Given the description of an element on the screen output the (x, y) to click on. 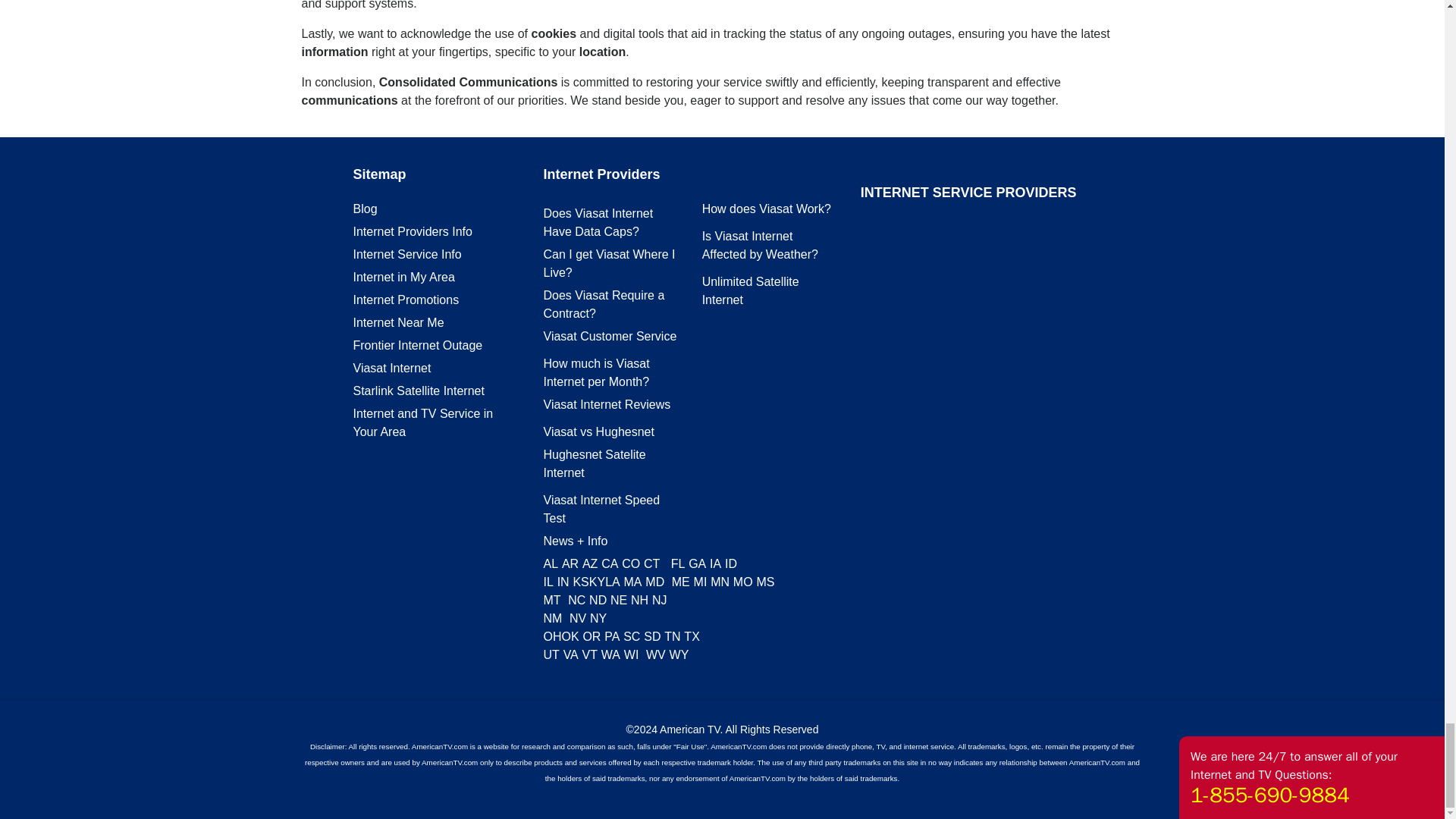
Connecticut (651, 563)
Michigan (700, 581)
Alabama (550, 563)
Idaho (730, 563)
Internet Promotions (406, 299)
California (609, 563)
Hughesnet Satelite Internet (594, 463)
Viasat vs Hughesnet (598, 431)
Unlimited Satellite Internet (750, 290)
Louisiana (612, 581)
Internet Providers Info (412, 231)
Frontier Internet Outage (418, 345)
Starlink Satellite Internet (418, 390)
Massachusetts (632, 581)
Georgia (697, 563)
